Given the description of an element on the screen output the (x, y) to click on. 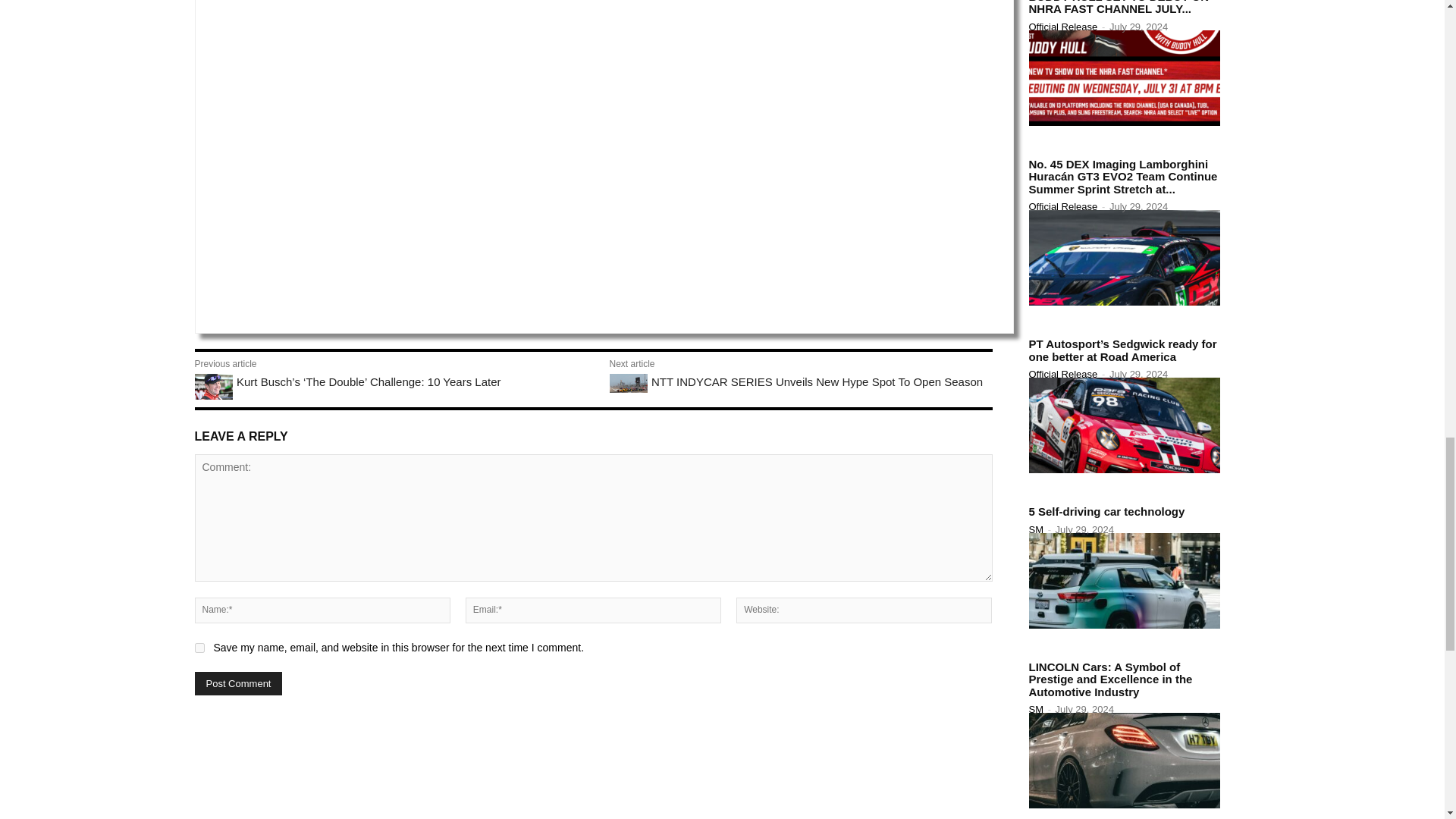
Post Comment (237, 683)
yes (198, 647)
